Given the description of an element on the screen output the (x, y) to click on. 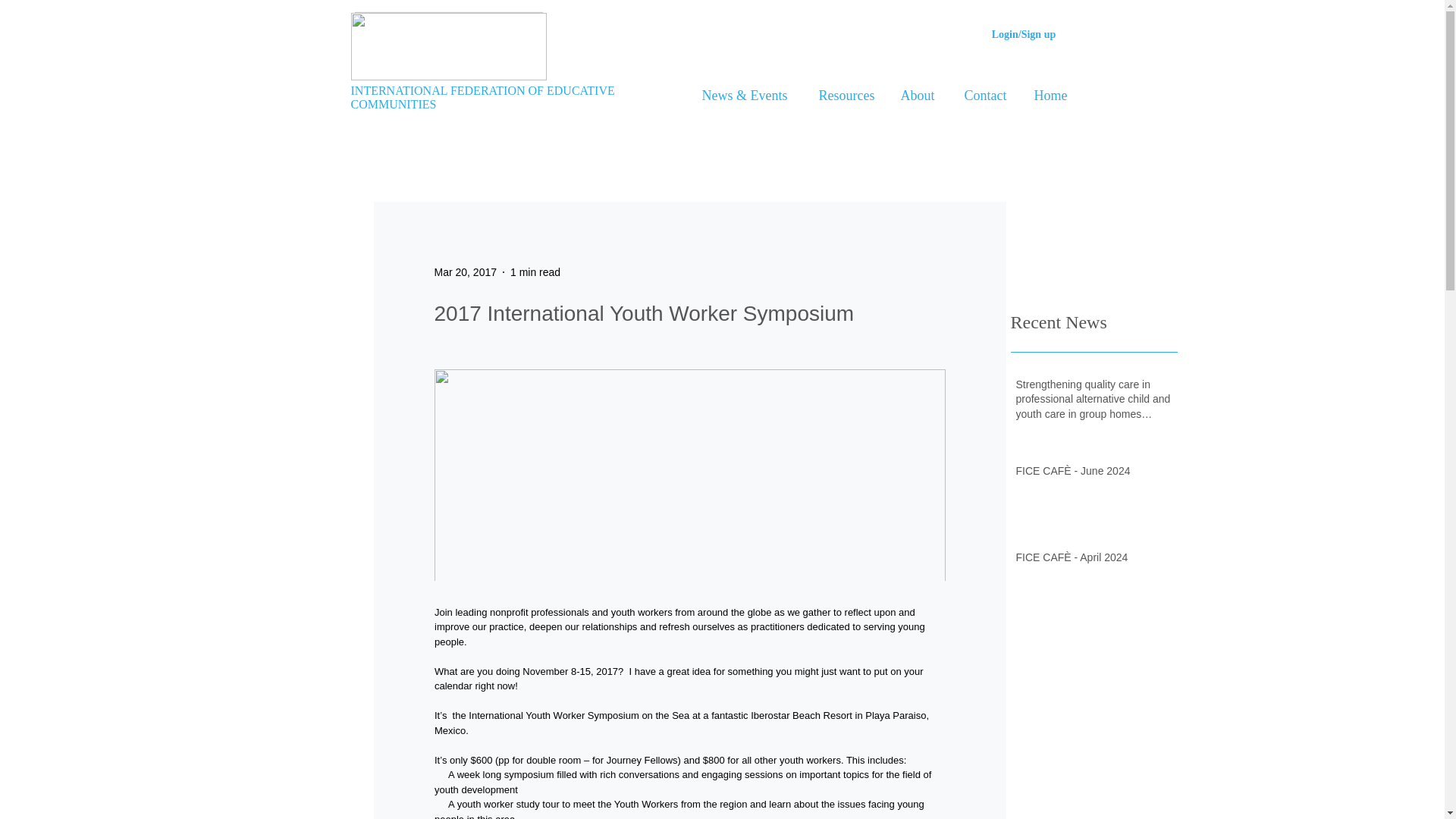
Mar 20, 2017 (464, 271)
Contact (981, 96)
About (914, 96)
1 min read (535, 271)
Home (1047, 96)
Resources (842, 96)
